Given the description of an element on the screen output the (x, y) to click on. 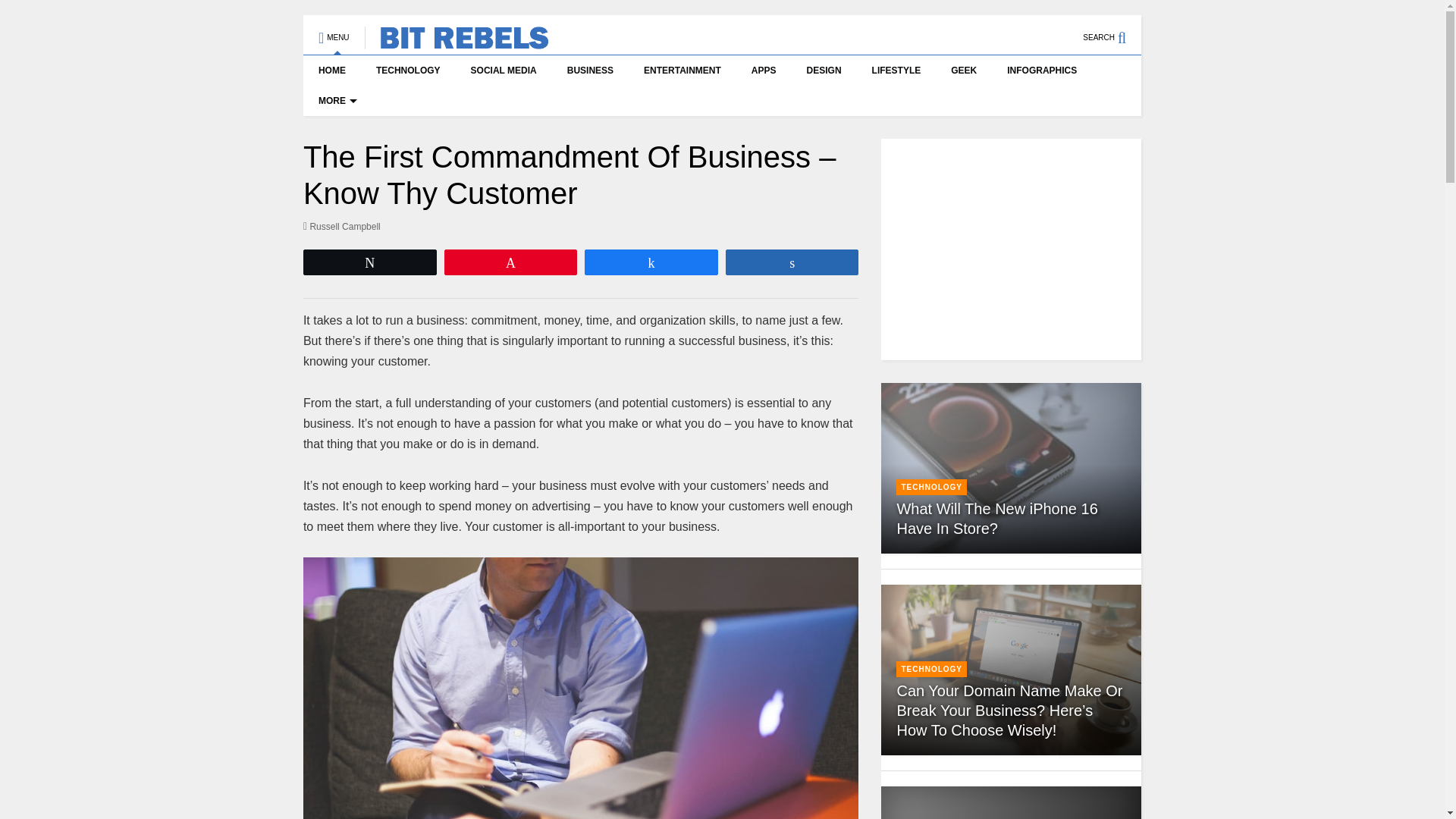
SEARCH (1112, 30)
What Will The New iPhone 16 Have In Store? (1010, 467)
ENTERTAINMENT (682, 70)
DESIGN (824, 70)
Russell Campbell (341, 226)
Russell Campbell (341, 226)
HOME (331, 70)
What Will The New iPhone 16 Have In Store? (996, 518)
INFOGRAPHICS (1041, 70)
APPS (764, 70)
